Given the description of an element on the screen output the (x, y) to click on. 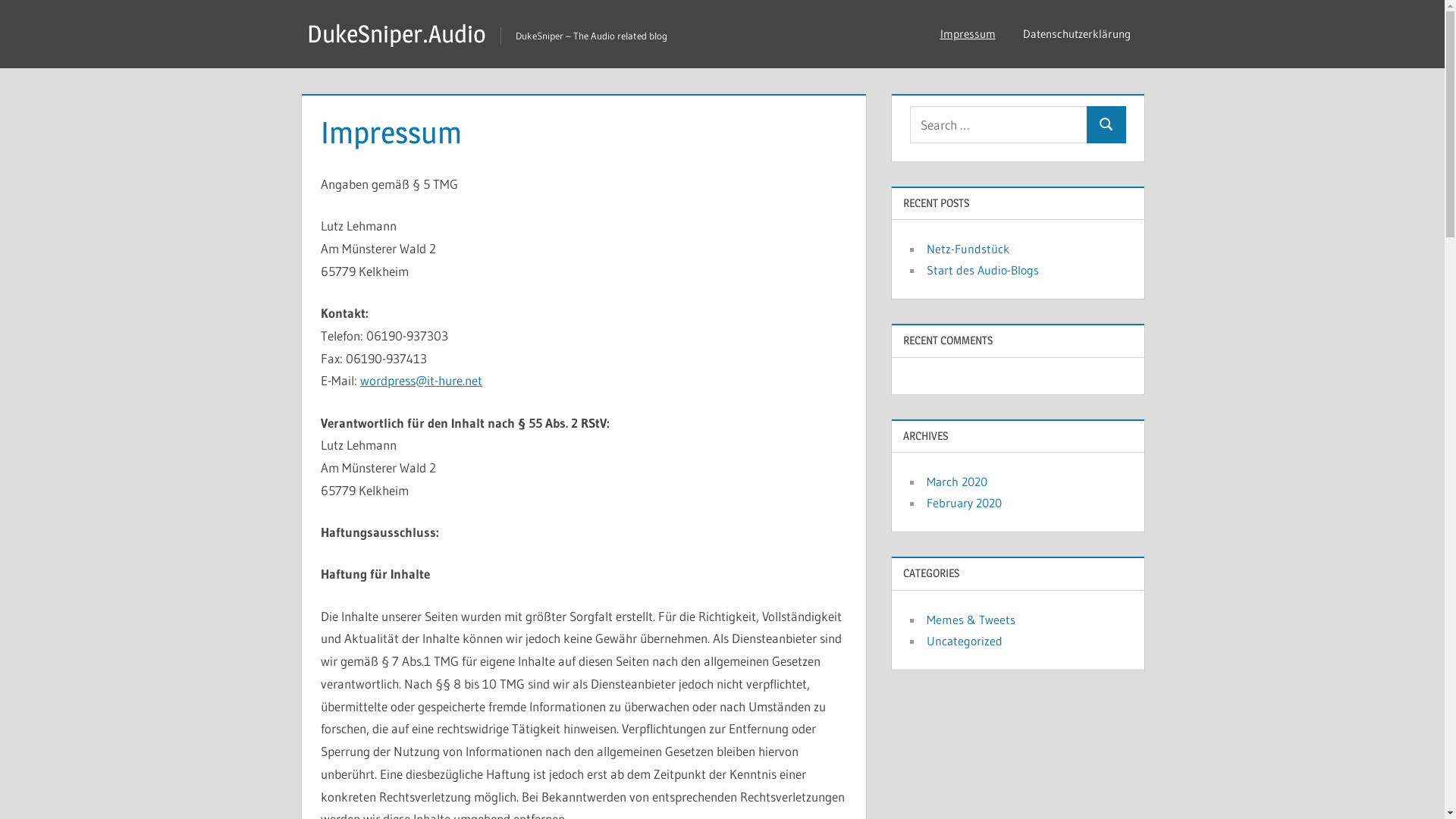
Search Element type: text (1105, 124)
Impressum Element type: text (967, 33)
Uncategorized Element type: text (964, 640)
Start des Audio-Blogs Element type: text (982, 269)
February 2020 Element type: text (963, 502)
wordpress@it-hure.net Element type: text (421, 380)
Memes & Tweets Element type: text (970, 619)
March 2020 Element type: text (956, 481)
Search for: Element type: hover (998, 124)
DukeSniper.Audio Element type: text (396, 33)
